Given the description of an element on the screen output the (x, y) to click on. 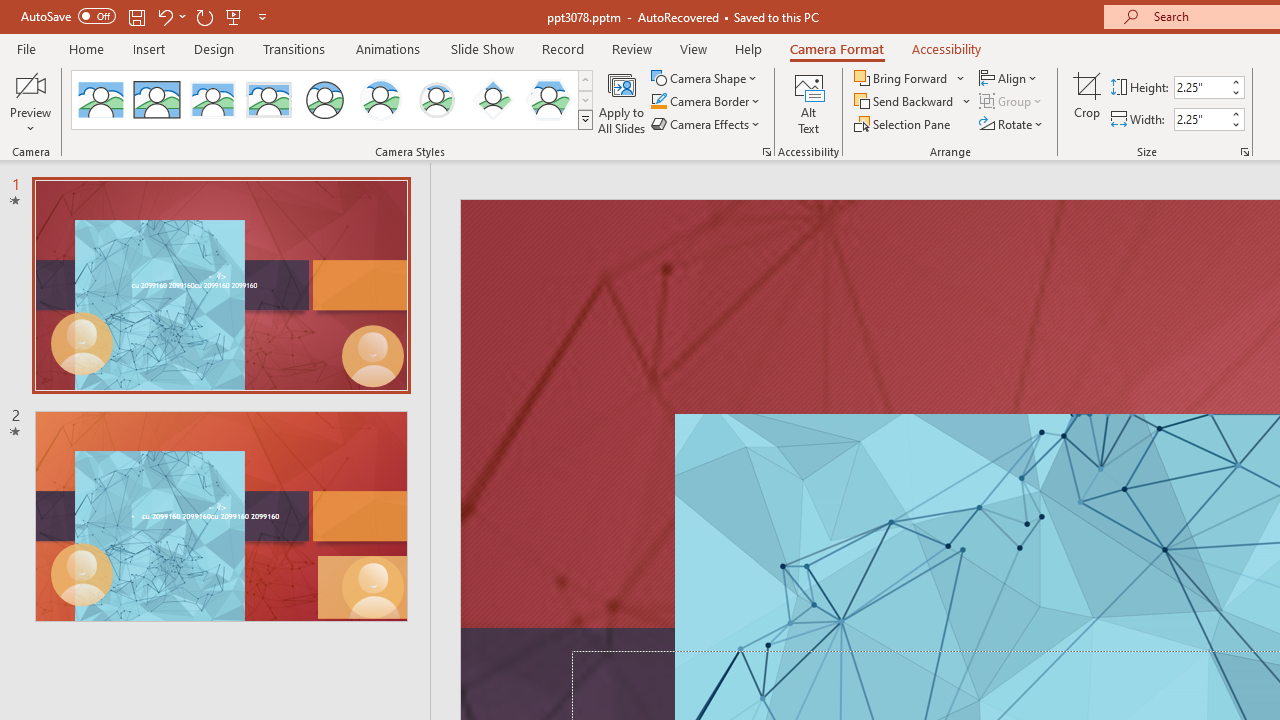
Send Backward (913, 101)
Send Backward (905, 101)
Apply to All Slides (621, 102)
Center Shadow Rectangle (212, 100)
Group (1012, 101)
Camera Format (836, 48)
Enable Camera Preview (30, 84)
Crop (1087, 102)
Soft Edge Rectangle (268, 100)
Align (1009, 78)
